Given the description of an element on the screen output the (x, y) to click on. 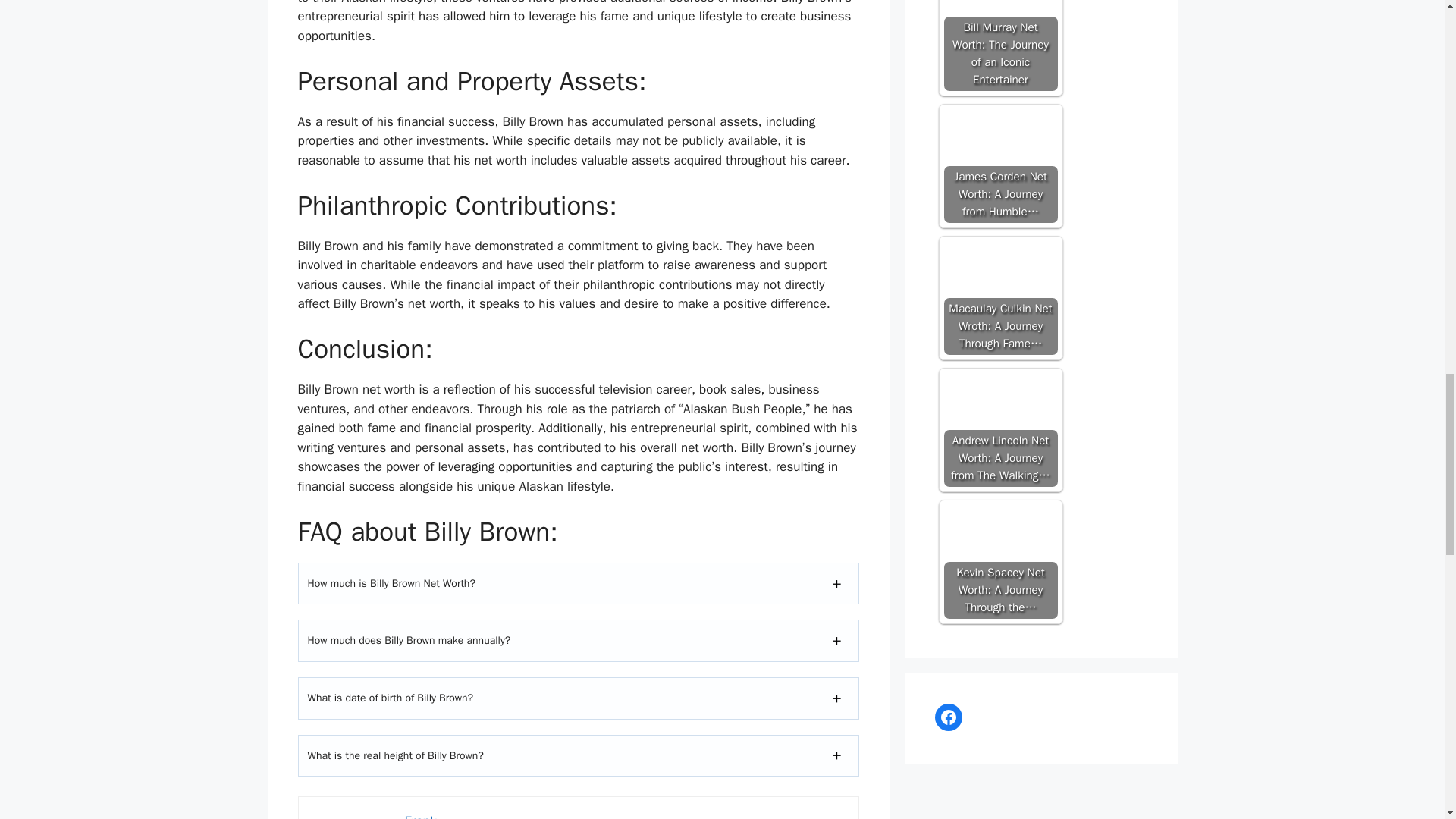
Frank White (352, 815)
